Given the description of an element on the screen output the (x, y) to click on. 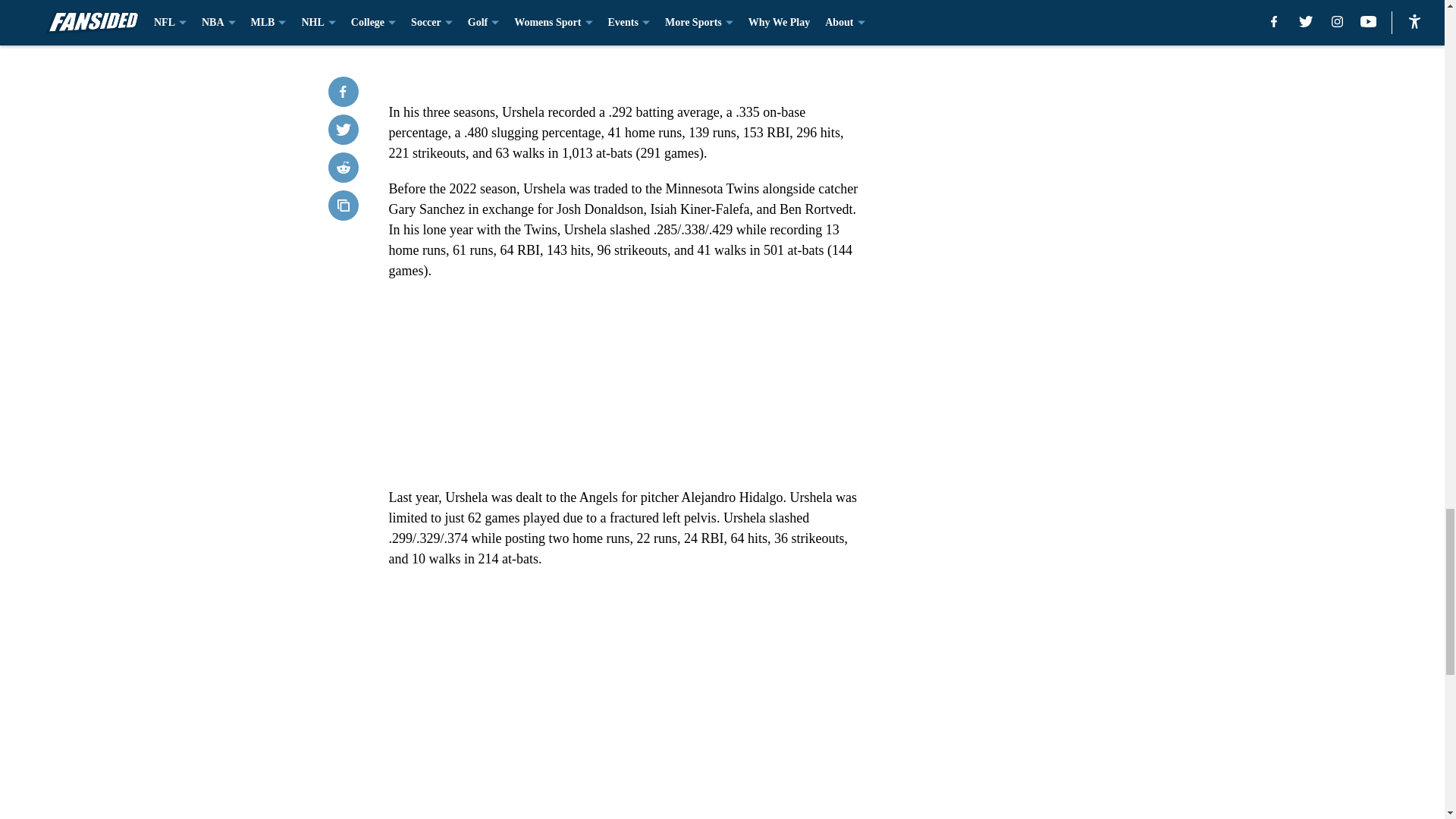
open-spotify (622, 384)
